Given the description of an element on the screen output the (x, y) to click on. 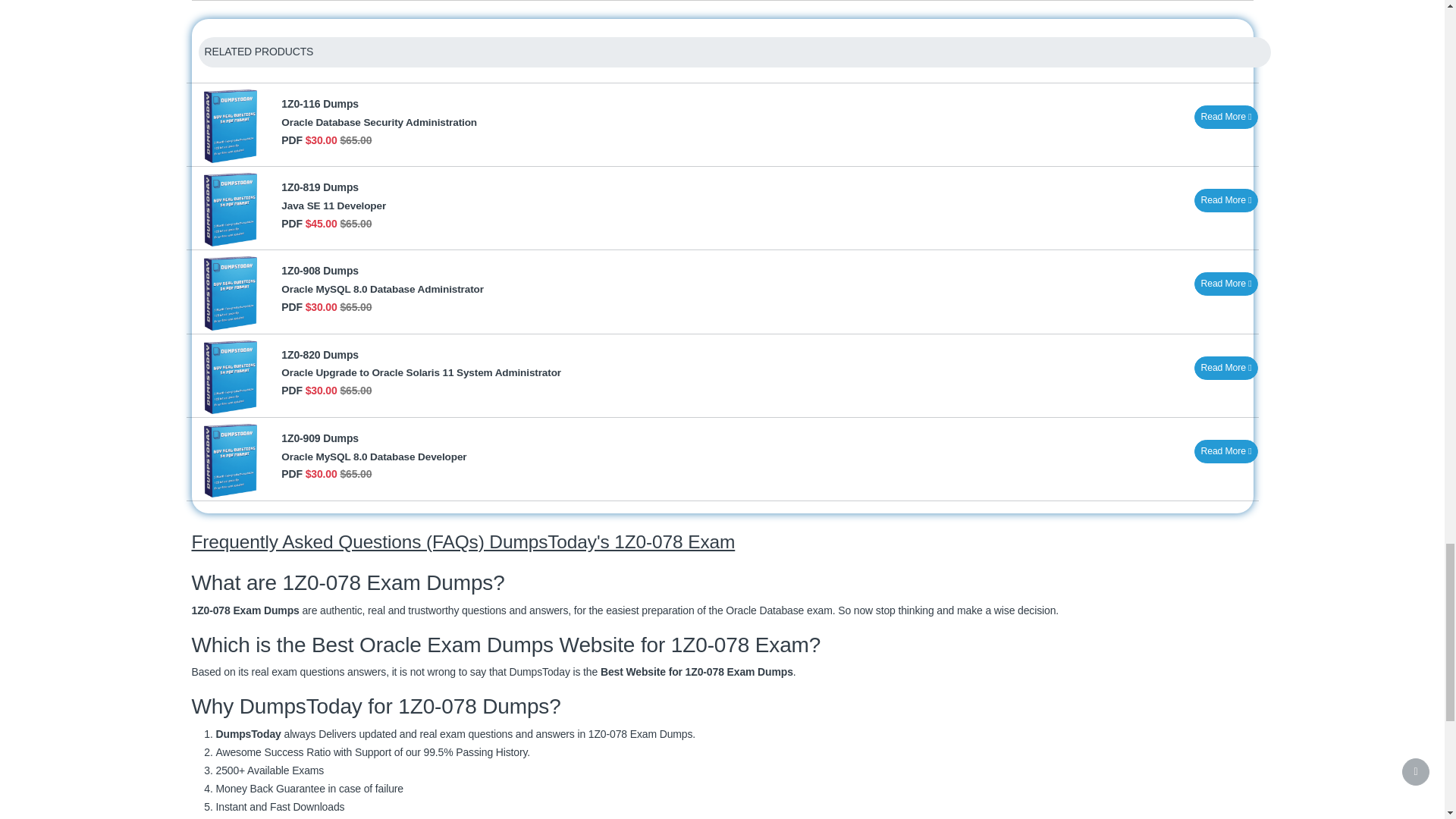
Read More (1226, 116)
1Z0-819 Dumps (319, 186)
Read More (1226, 200)
1Z0-908 Dumps (319, 270)
1Z0-820 Dumps (319, 354)
1Z0-116 Dumps (319, 103)
Read More (1226, 283)
